Given the description of an element on the screen output the (x, y) to click on. 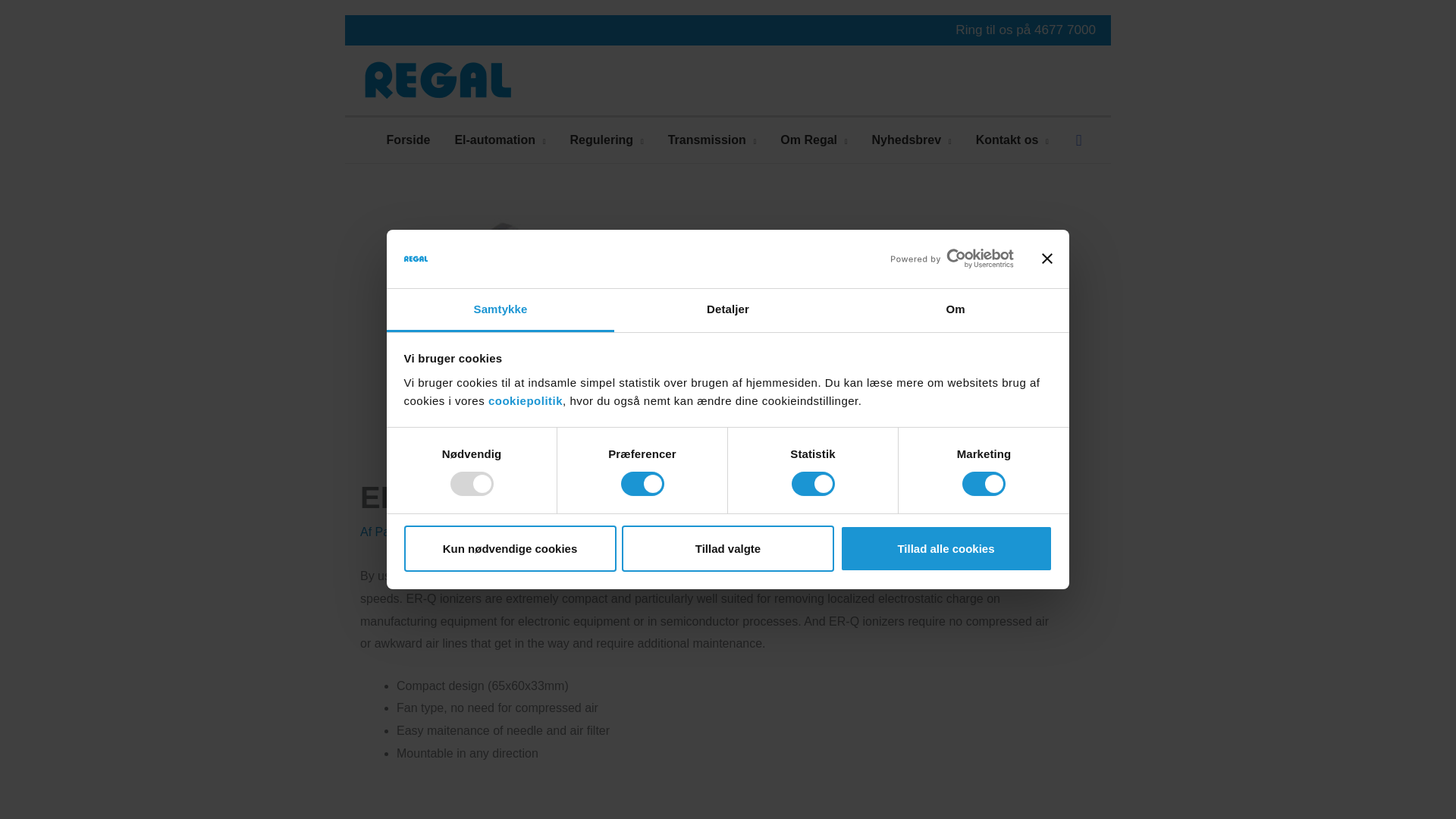
Om (954, 310)
Samtykke (500, 310)
Tillad alle cookies (946, 548)
Tillad valgte (727, 548)
Detaljer (727, 310)
cookiepolitik (524, 400)
Forside (408, 140)
